Given the description of an element on the screen output the (x, y) to click on. 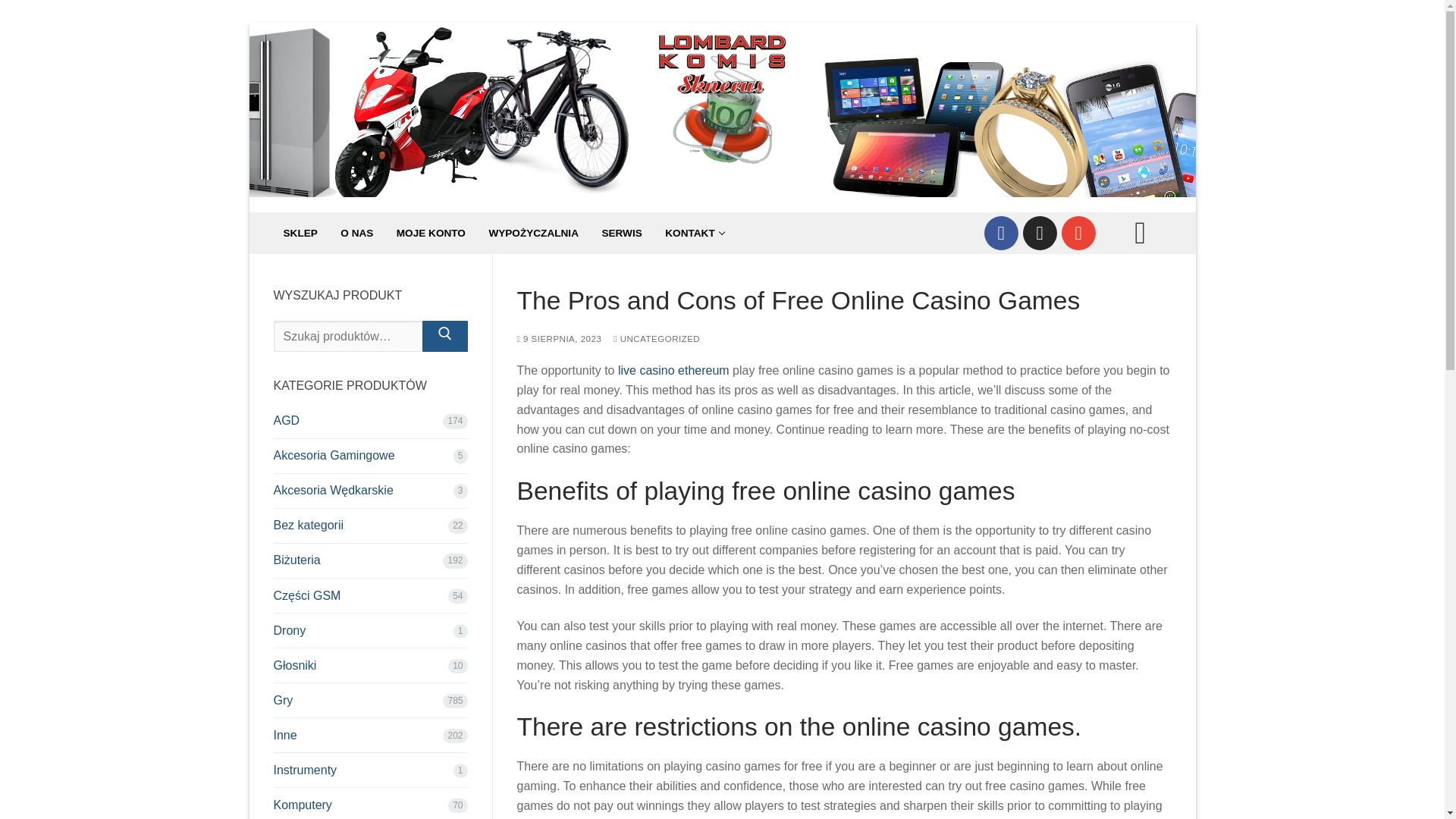
Inne (370, 738)
Messenger (1077, 232)
SKLEP (299, 233)
UNCATEGORIZED (656, 338)
Facebook (1000, 232)
MOJE KONTO (431, 233)
Instagram (1038, 232)
Akcesoria Gamingowe (370, 459)
Drony (370, 634)
AGD (370, 424)
